Given the description of an element on the screen output the (x, y) to click on. 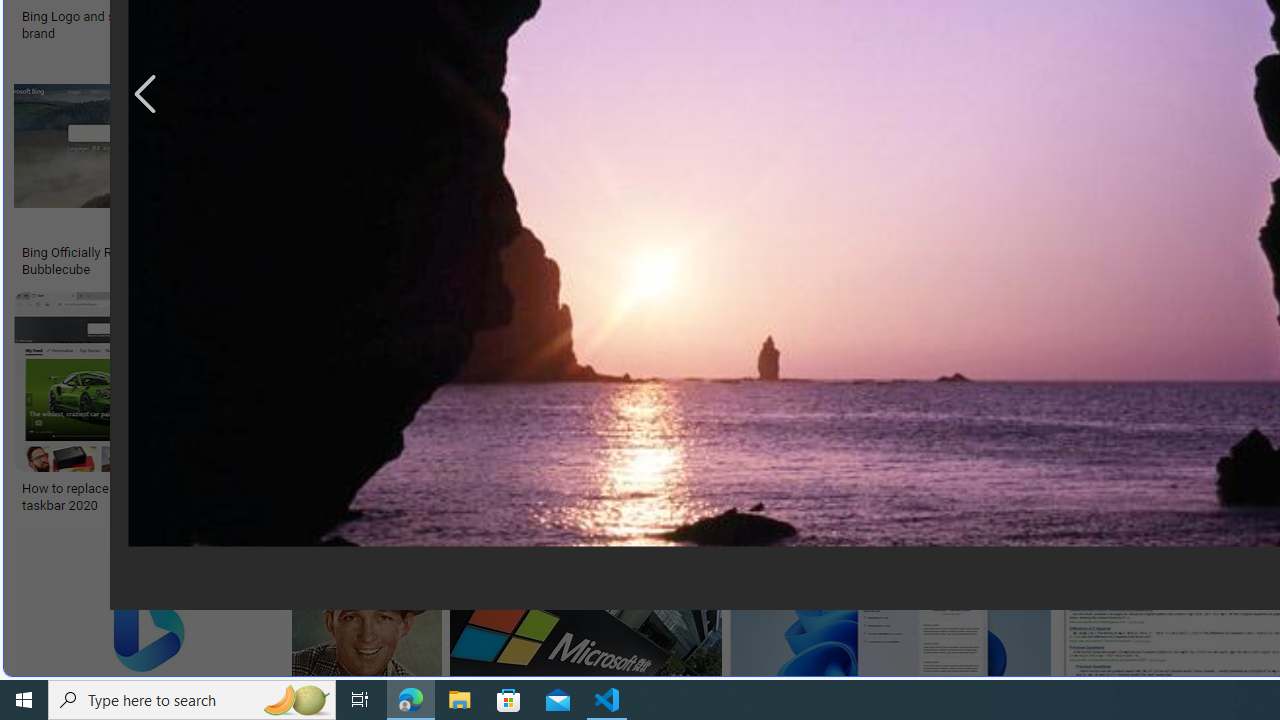
Bing - SEOLend (386, 253)
